Given the description of an element on the screen output the (x, y) to click on. 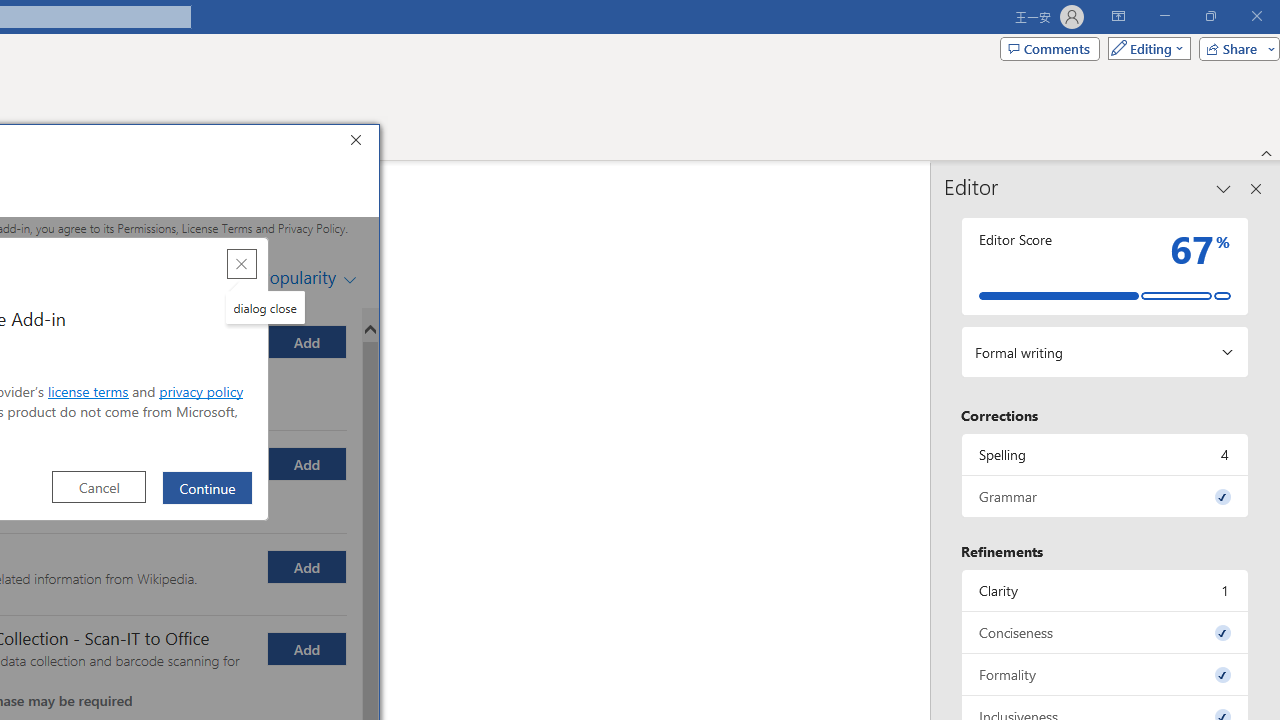
Editor Score 67% (1105, 266)
dialog close (265, 307)
Formality, 0 issues. Press space or enter to review items. (1105, 673)
Spelling, 4 issues. Press space or enter to review items. (1105, 454)
Editing (1144, 47)
